Given the description of an element on the screen output the (x, y) to click on. 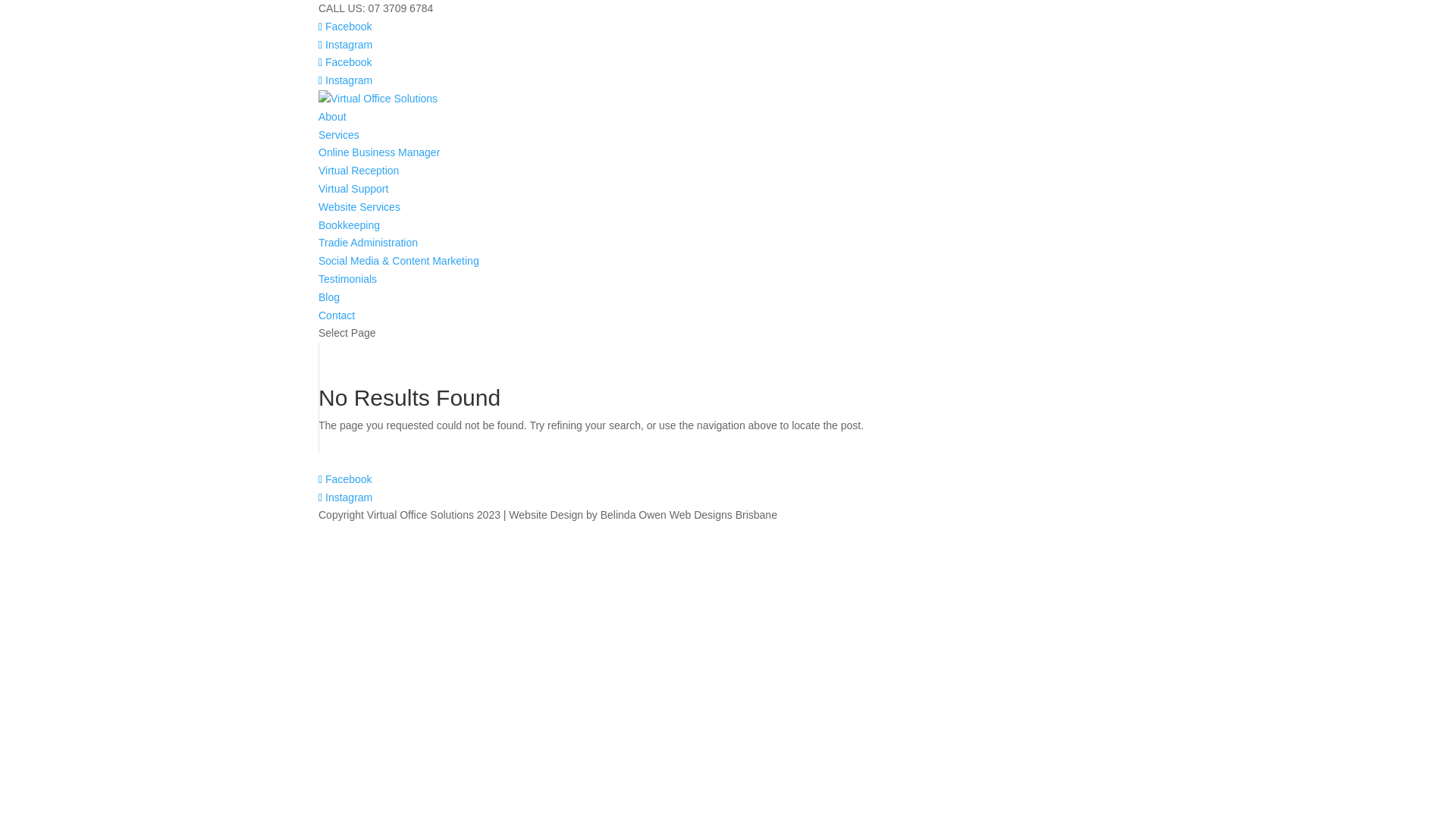
About Element type: text (332, 116)
Facebook Element type: text (345, 479)
Social Media & Content Marketing Element type: text (398, 260)
Virtual Support Element type: text (353, 188)
Website Services Element type: text (359, 206)
Blog Element type: text (328, 297)
Instagram Element type: text (345, 44)
Instagram Element type: text (345, 497)
Bookkeeping Element type: text (348, 225)
Facebook Element type: text (345, 26)
Services Element type: text (338, 134)
Online Business Manager Element type: text (378, 152)
Testimonials Element type: text (347, 279)
Tradie Administration Element type: text (367, 242)
Facebook Element type: text (345, 62)
Contact Element type: text (336, 315)
Virtual Reception Element type: text (358, 170)
Instagram Element type: text (345, 80)
